Given the description of an element on the screen output the (x, y) to click on. 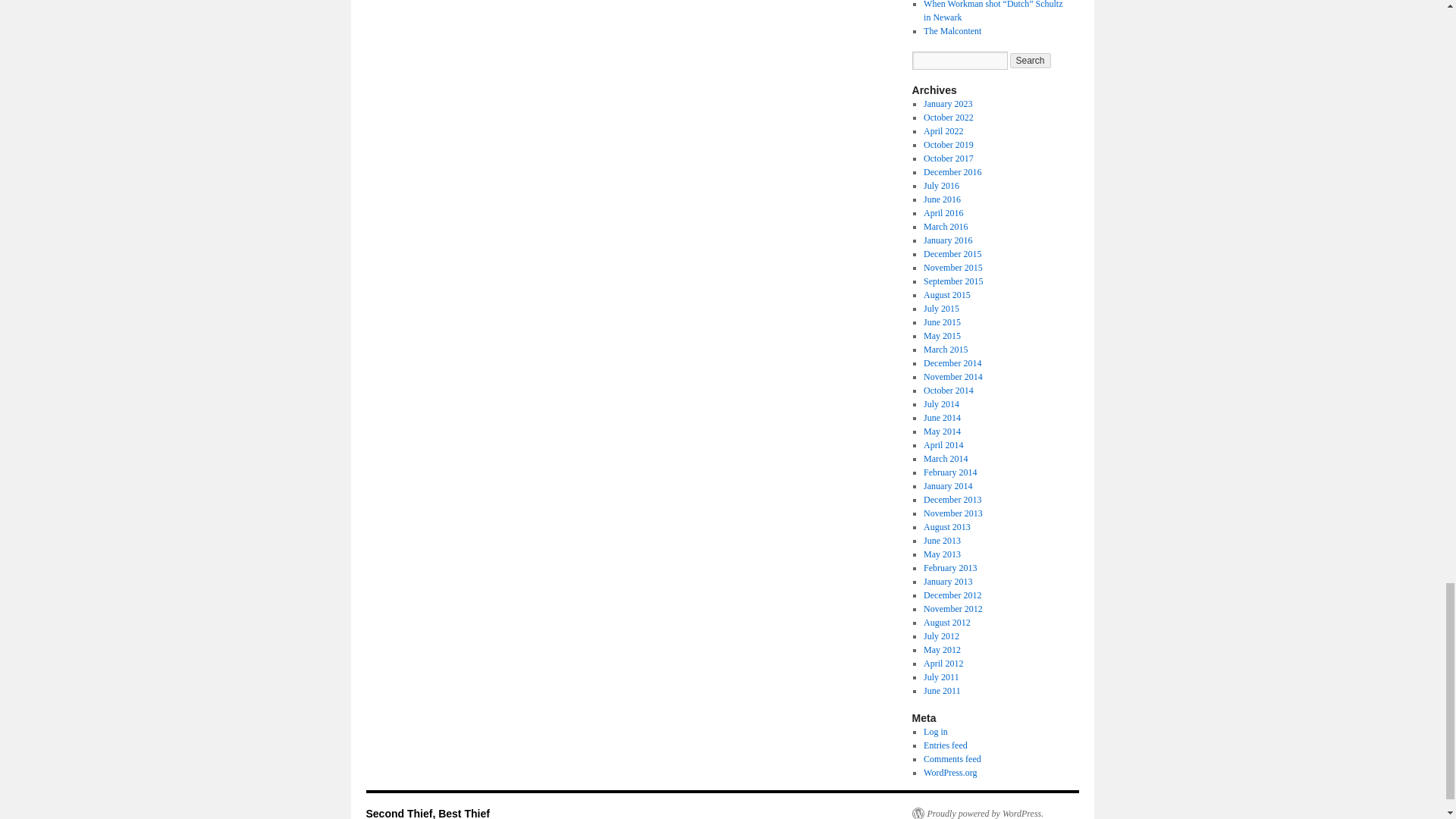
Search (1030, 60)
